Given the description of an element on the screen output the (x, y) to click on. 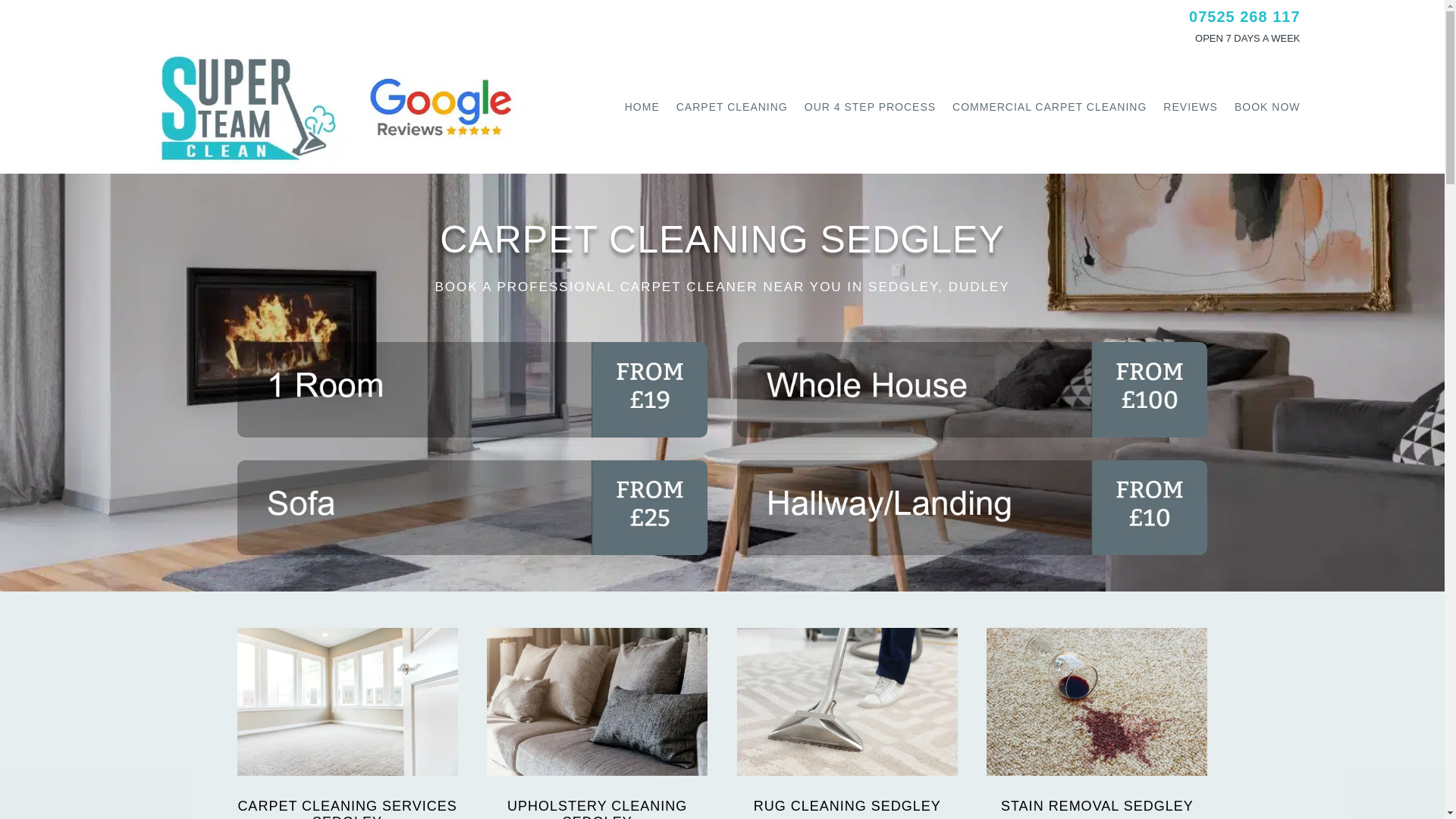
COMMERCIAL CARPET CLEANING (1049, 106)
hallway landing carpet cleaning Birmingham (972, 508)
UPHOLSTERY CLEANING SEDGLEY (596, 808)
OUR 4 STEP PROCESS (870, 106)
whole house carpet cleaning offer Birmingham (972, 389)
STAIN REMOVAL SEDGLEY (1097, 806)
sofa cleaning Birmingham (471, 508)
RUG CLEANING SEDGLEY (847, 806)
CARPET CLEANING SERVICES SEDGLEY (347, 808)
professional carpet cleaning offer Birmingham (471, 389)
07525 268 117 (1244, 16)
